Given the description of an element on the screen output the (x, y) to click on. 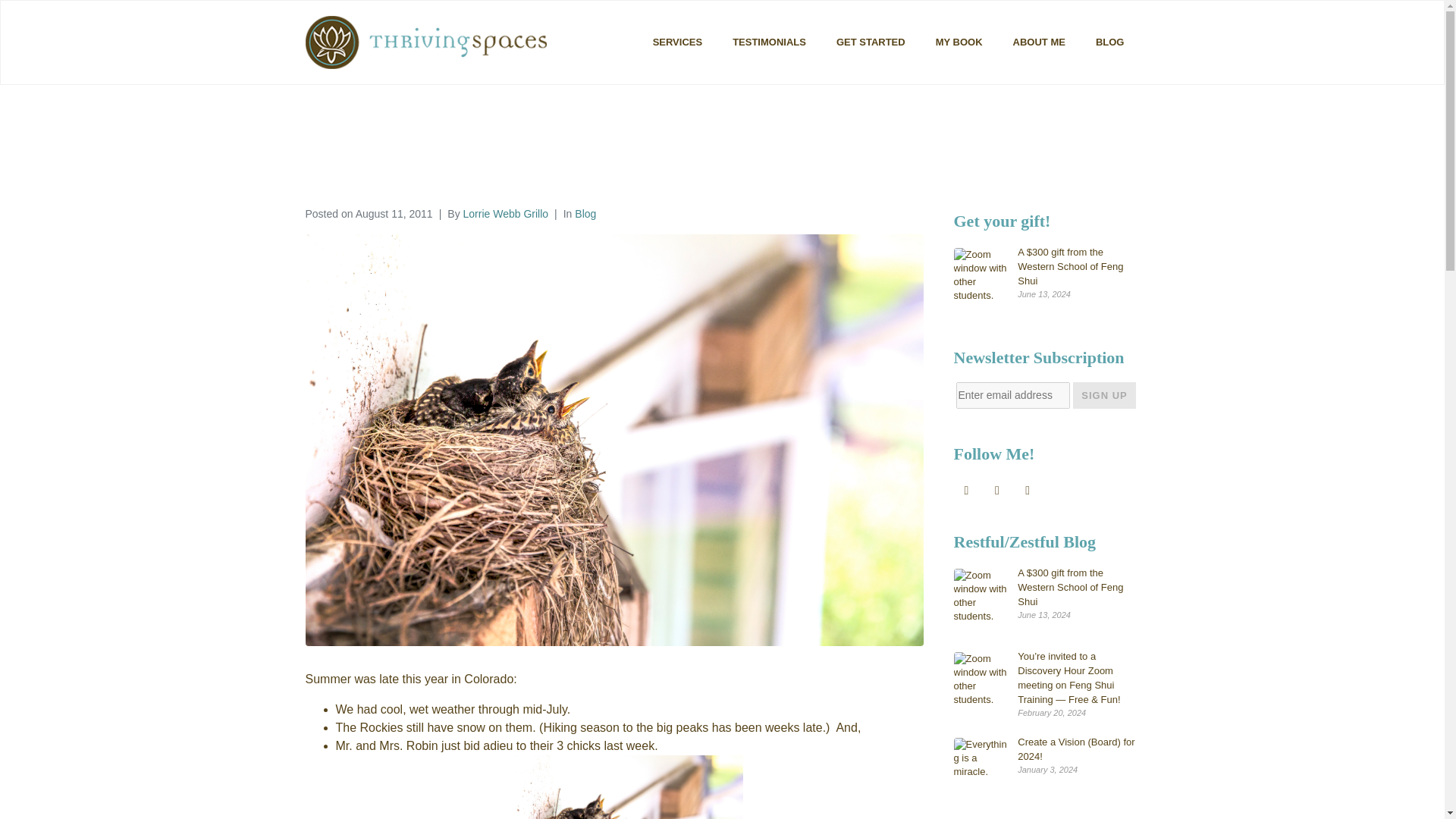
Blog (585, 214)
ABOUT ME (1038, 41)
GET STARTED (870, 41)
Baby Robin (628, 787)
Sign Up (1104, 395)
TESTIMONIALS (769, 41)
BLOG (1110, 41)
Lorrie Webb Grillo (505, 214)
MY BOOK (958, 41)
SERVICES (677, 41)
